Given the description of an element on the screen output the (x, y) to click on. 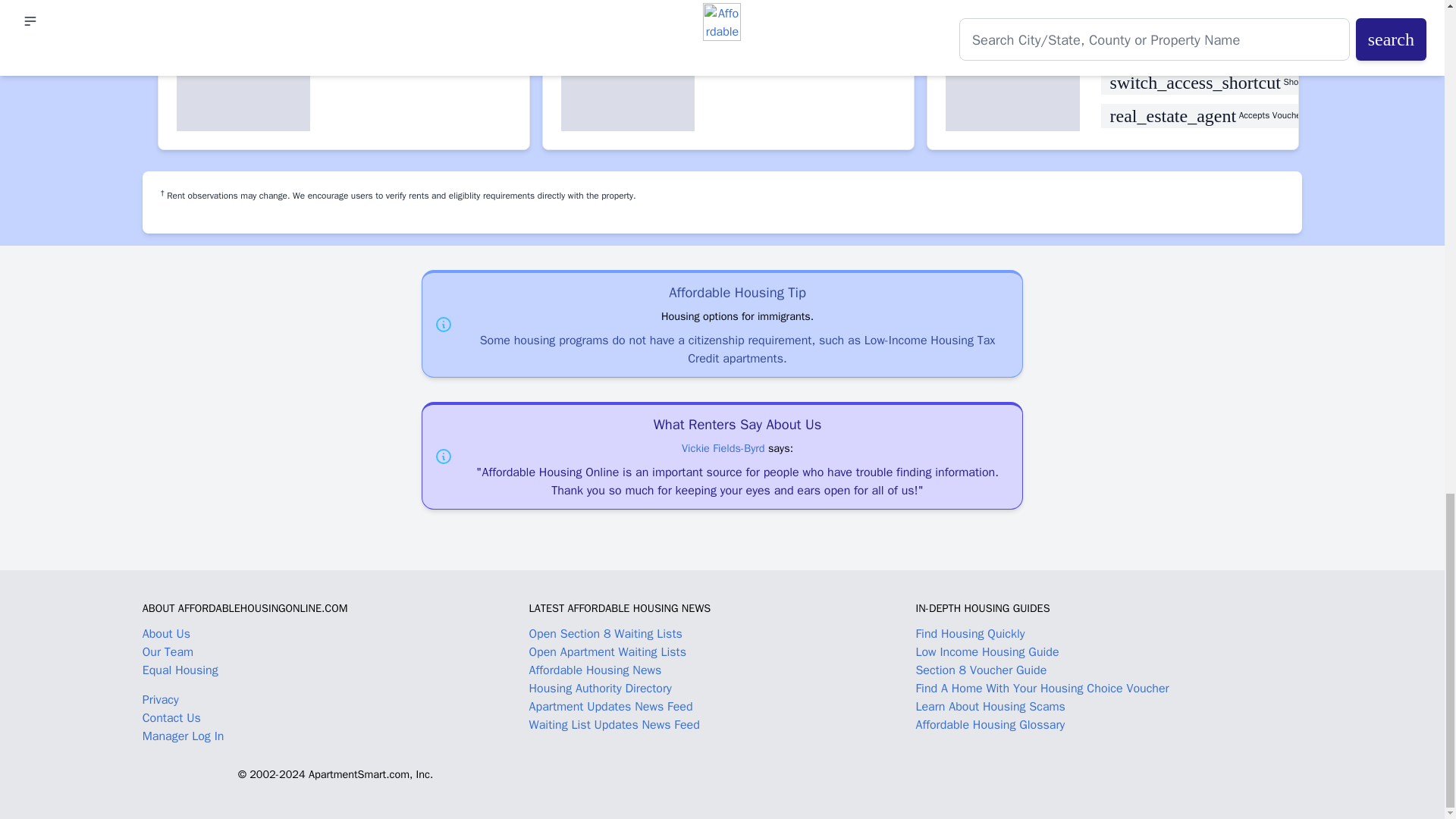
Affordable Housing News (595, 670)
AffordableHousingOnline.com Team (167, 652)
About Us (166, 633)
Our Team (167, 652)
Privacy on AffordableHousingOnline.com (160, 699)
Open Apartment Waiting Lists on AffordableHousingOnline.com (607, 652)
Privacy (160, 699)
Manager Log In on AffordableHousingOnline.com (183, 735)
Contact Us on AffordableHousingOnline.com (171, 717)
Manager Log In (183, 735)
Affordable Housing News on AffordableHousingOnline.com (595, 670)
About Us on AffordableHousingOnline.com (166, 633)
Open Section 8 Waiting Lists (605, 633)
Equal Housing on AffordableHousingOnline.com (335, 676)
Open Section 8 Waiting Lists on AffordableHousingOnline.com (605, 633)
